Given the description of an element on the screen output the (x, y) to click on. 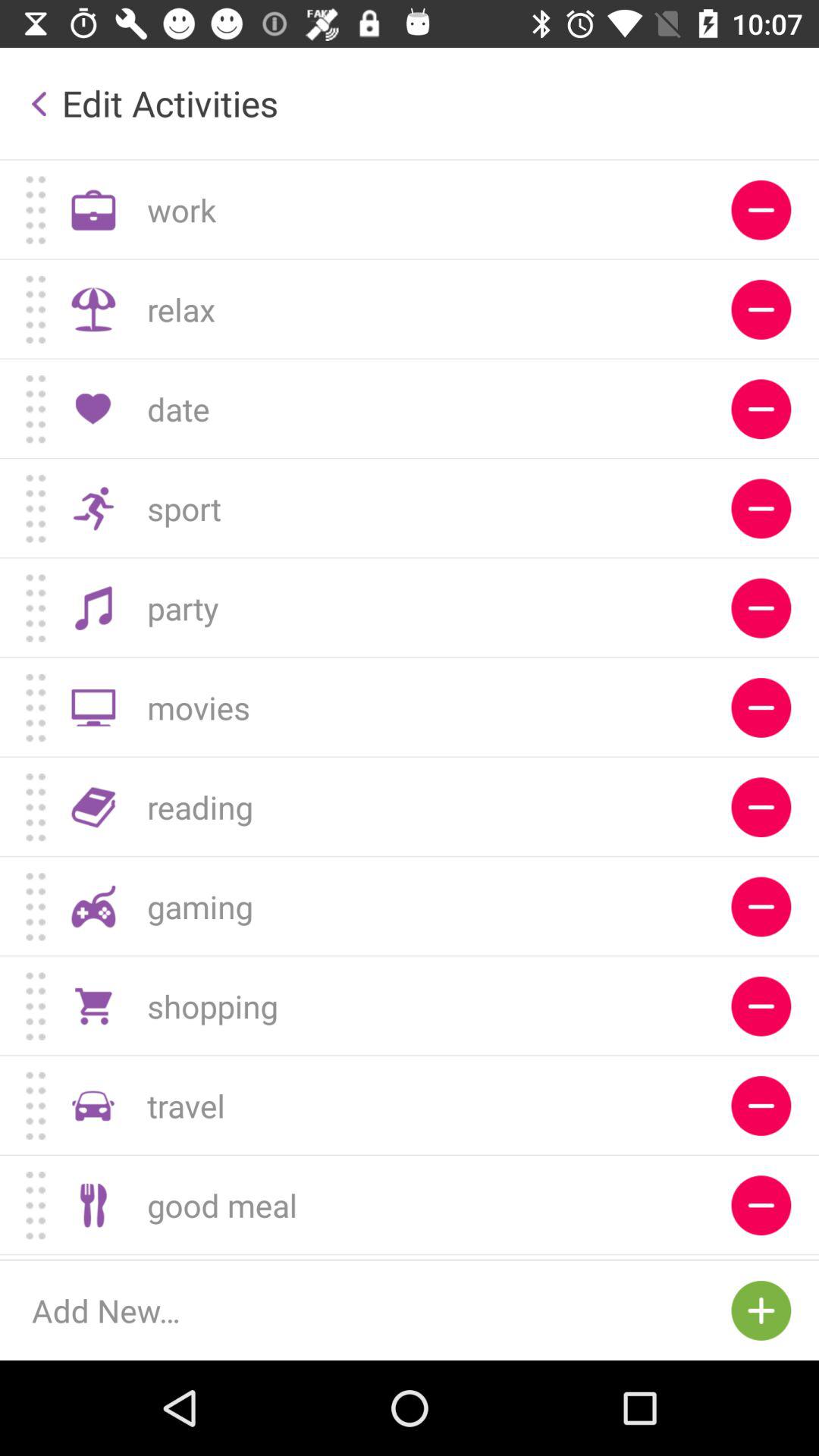
remove from the list (761, 408)
